Given the description of an element on the screen output the (x, y) to click on. 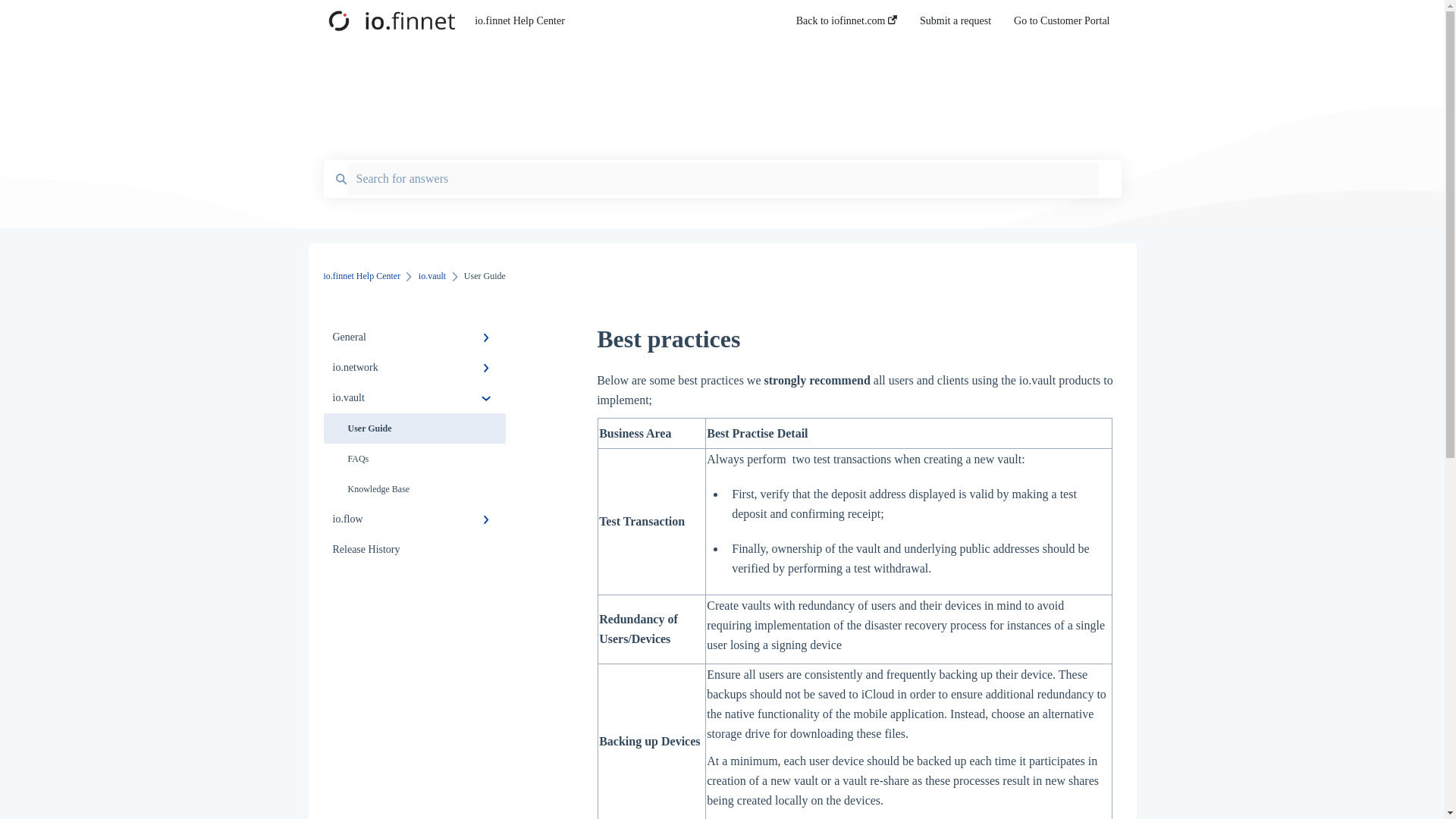
FAQs (414, 458)
User Guide (414, 428)
io.finnet Help Center (361, 276)
io.flow (414, 519)
Submit a request (955, 25)
Go to Customer Portal (1061, 25)
io.vault (432, 276)
General (414, 337)
io.finnet Help Center (611, 21)
io.vault (414, 398)
